Given the description of an element on the screen output the (x, y) to click on. 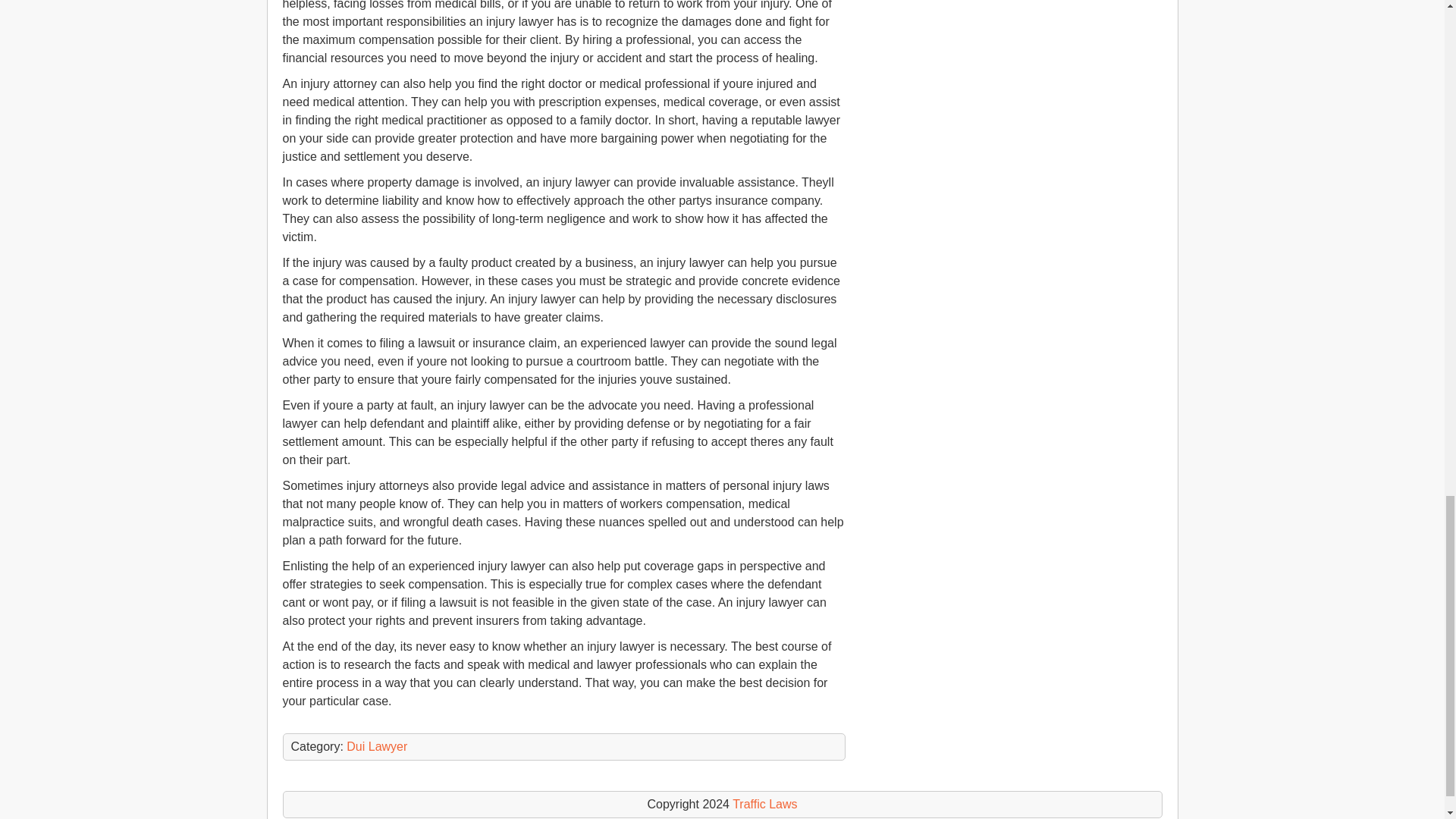
Dui Lawyer (376, 746)
Traffic Laws (764, 803)
Traffic Laws (764, 803)
